Given the description of an element on the screen output the (x, y) to click on. 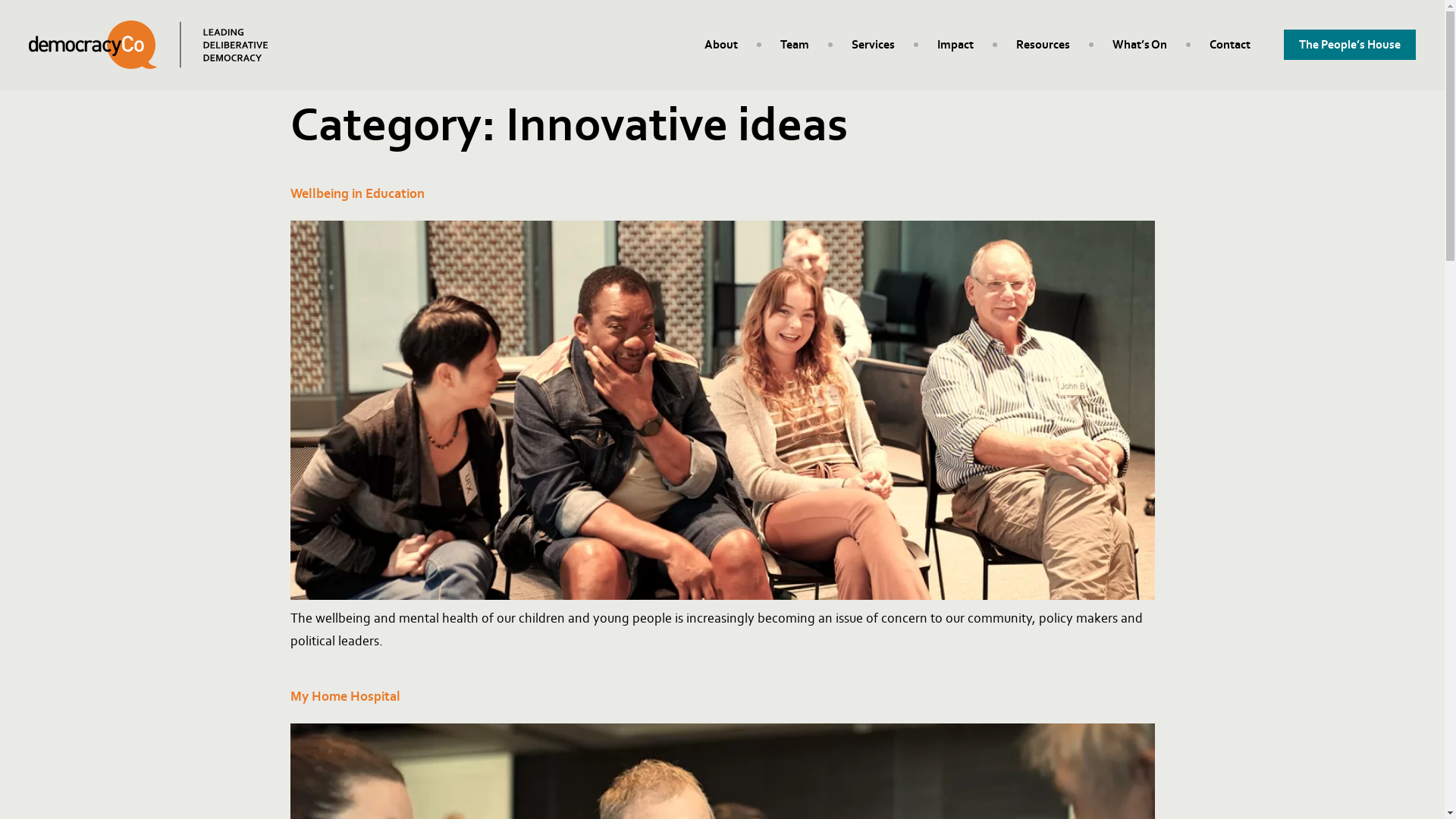
Team Element type: text (794, 44)
democracyco-logo Element type: hover (167, 44)
About Element type: text (720, 44)
Contact Element type: text (1229, 44)
Impact Element type: text (955, 44)
My Home Hospital Element type: text (344, 695)
Services Element type: text (873, 44)
Resources Element type: text (1042, 44)
Wellbeing in Education Element type: text (356, 193)
